Given the description of an element on the screen output the (x, y) to click on. 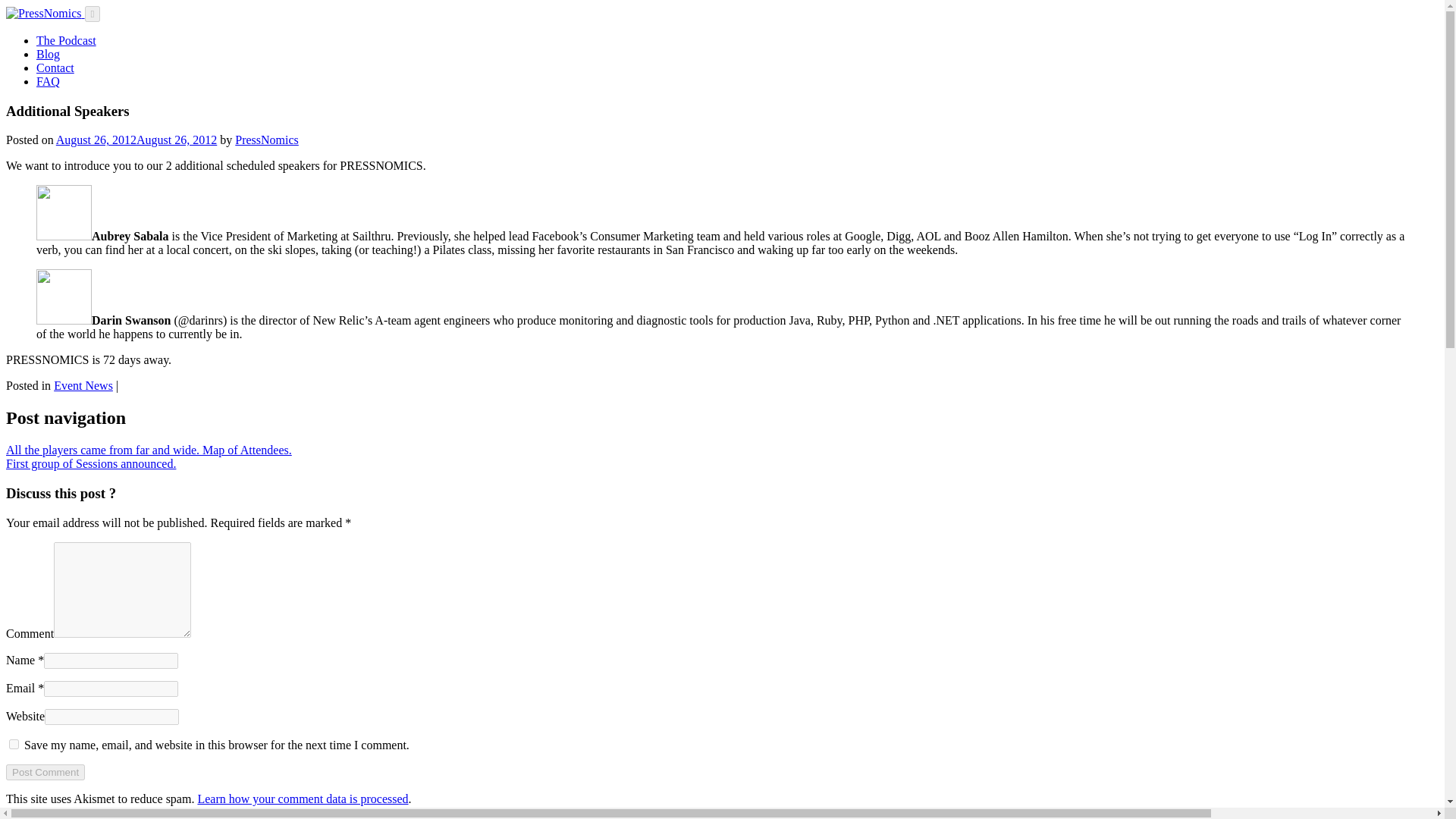
Blog (47, 53)
Post Comment (44, 772)
Aubrey (63, 212)
First group of Sessions announced. (90, 463)
All the players came from far and wide. Map of Attendees. (148, 449)
The Podcast (66, 40)
FAQ (47, 81)
Contact (55, 67)
PressNomics (266, 139)
August 26, 2012August 26, 2012 (136, 139)
Post Comment (44, 772)
Learn how your comment data is processed (301, 798)
Event News (83, 385)
Darwin Swanson (63, 296)
yes (13, 744)
